Given the description of an element on the screen output the (x, y) to click on. 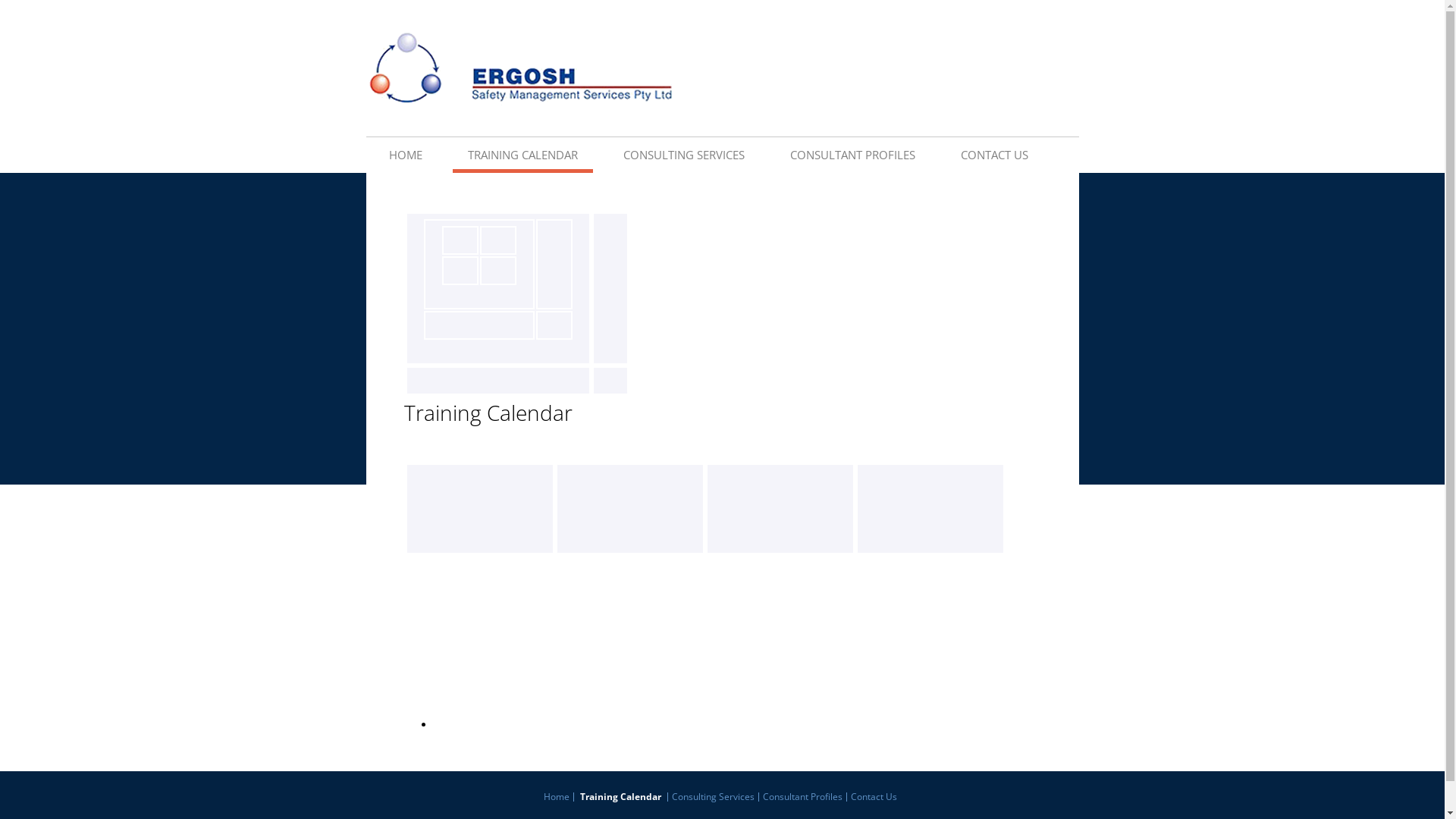
CONSULTANT PROFILES Element type: text (852, 153)
Consultant Profiles Element type: text (803, 796)
ERGOSH Safety Management Services Pty Ltd Element type: hover (518, 68)
  Element type: text (404, 691)
Consulting Services Element type: text (713, 796)
Training Calendar Element type: text (621, 796)
Contact Us Element type: text (873, 796)
HOME Element type: text (404, 153)
TRAINING CALENDAR Element type: text (521, 153)
CONTACT US Element type: text (993, 153)
Home Element type: text (558, 796)
CONSULTING SERVICES Element type: text (683, 153)
